Given the description of an element on the screen output the (x, y) to click on. 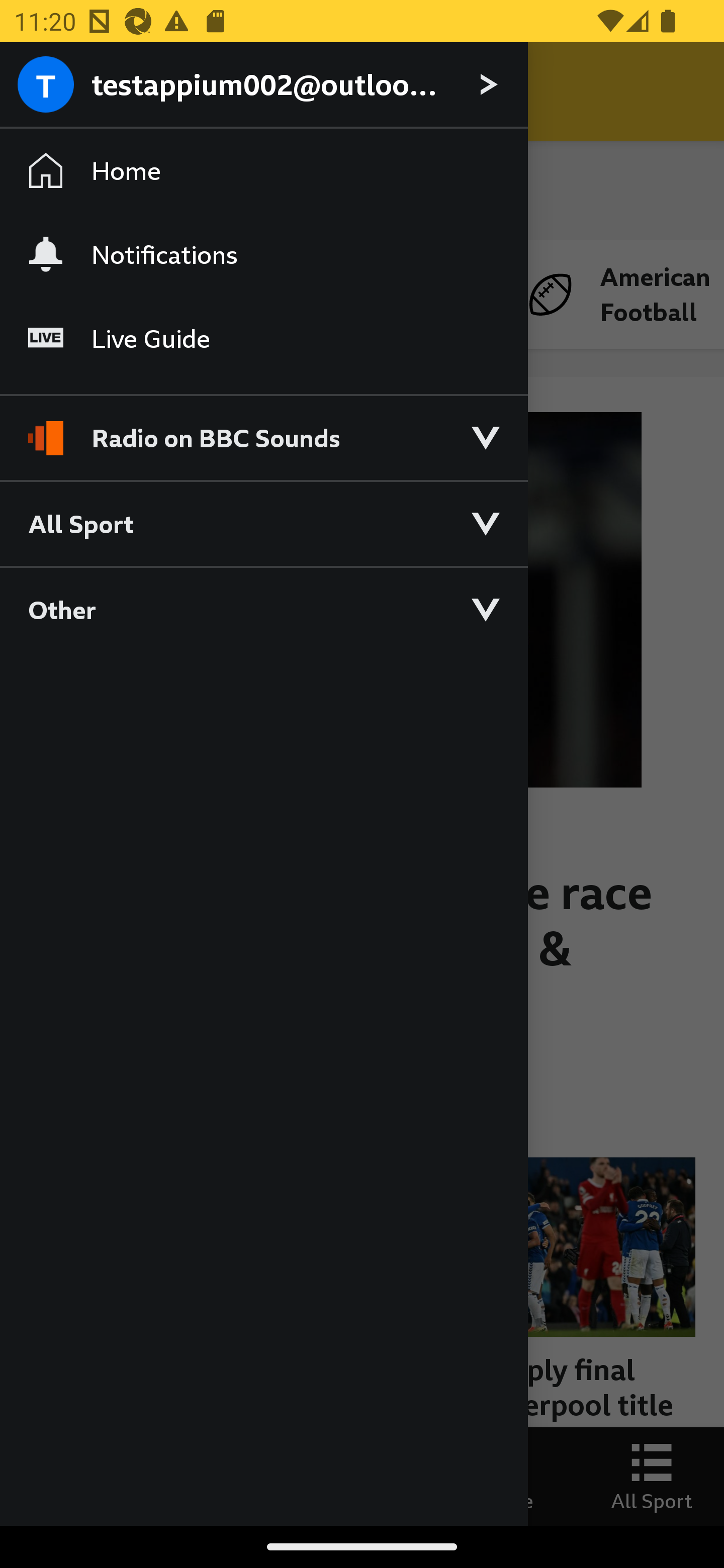
testappium002@outlook.com (263, 85)
Home (263, 170)
Notifications (263, 253)
Live Guide (263, 338)
Radio on BBC Sounds (263, 429)
All Sport (263, 522)
Other (263, 609)
